Given the description of an element on the screen output the (x, y) to click on. 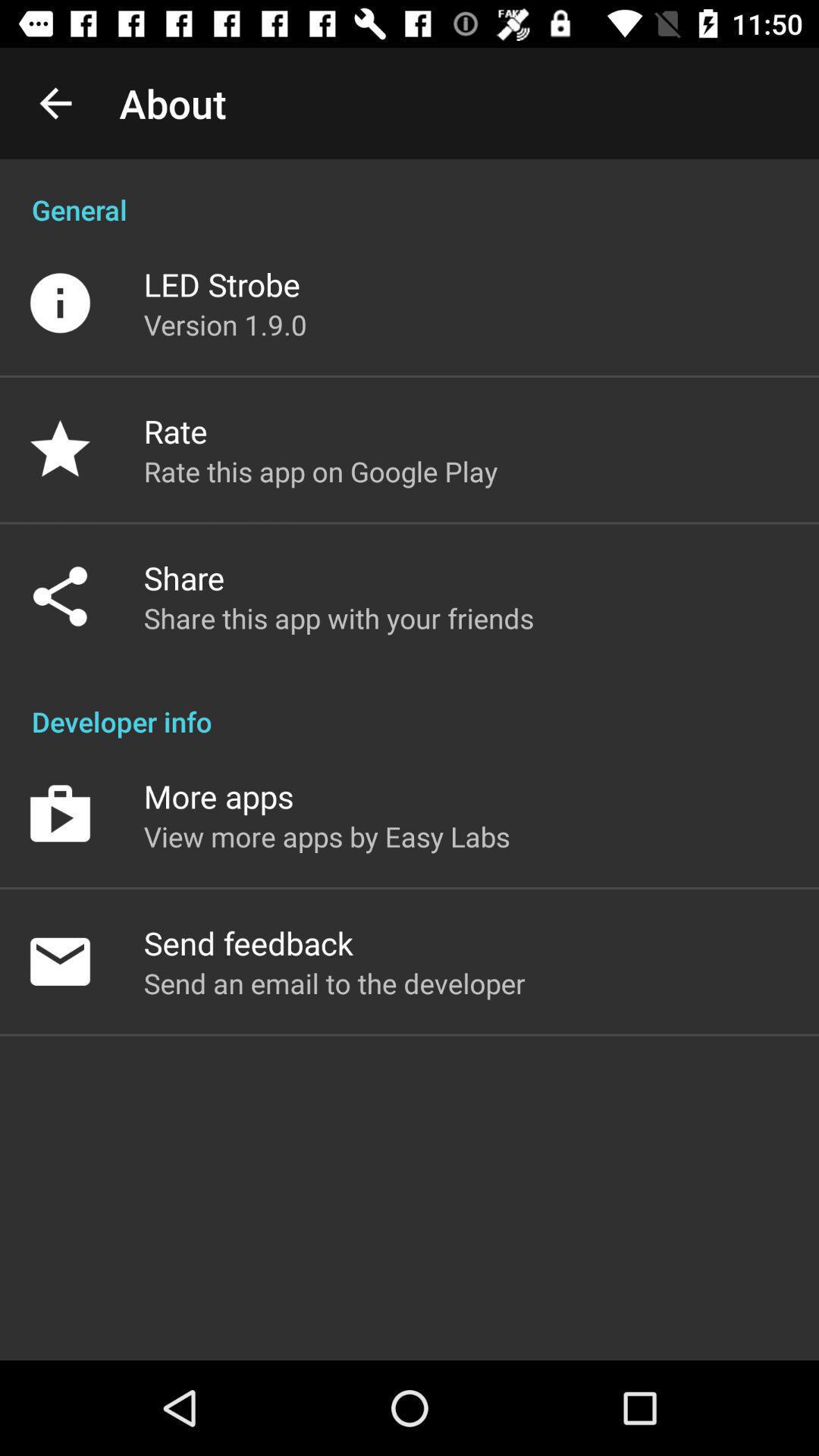
jump to send an email icon (334, 983)
